Given the description of an element on the screen output the (x, y) to click on. 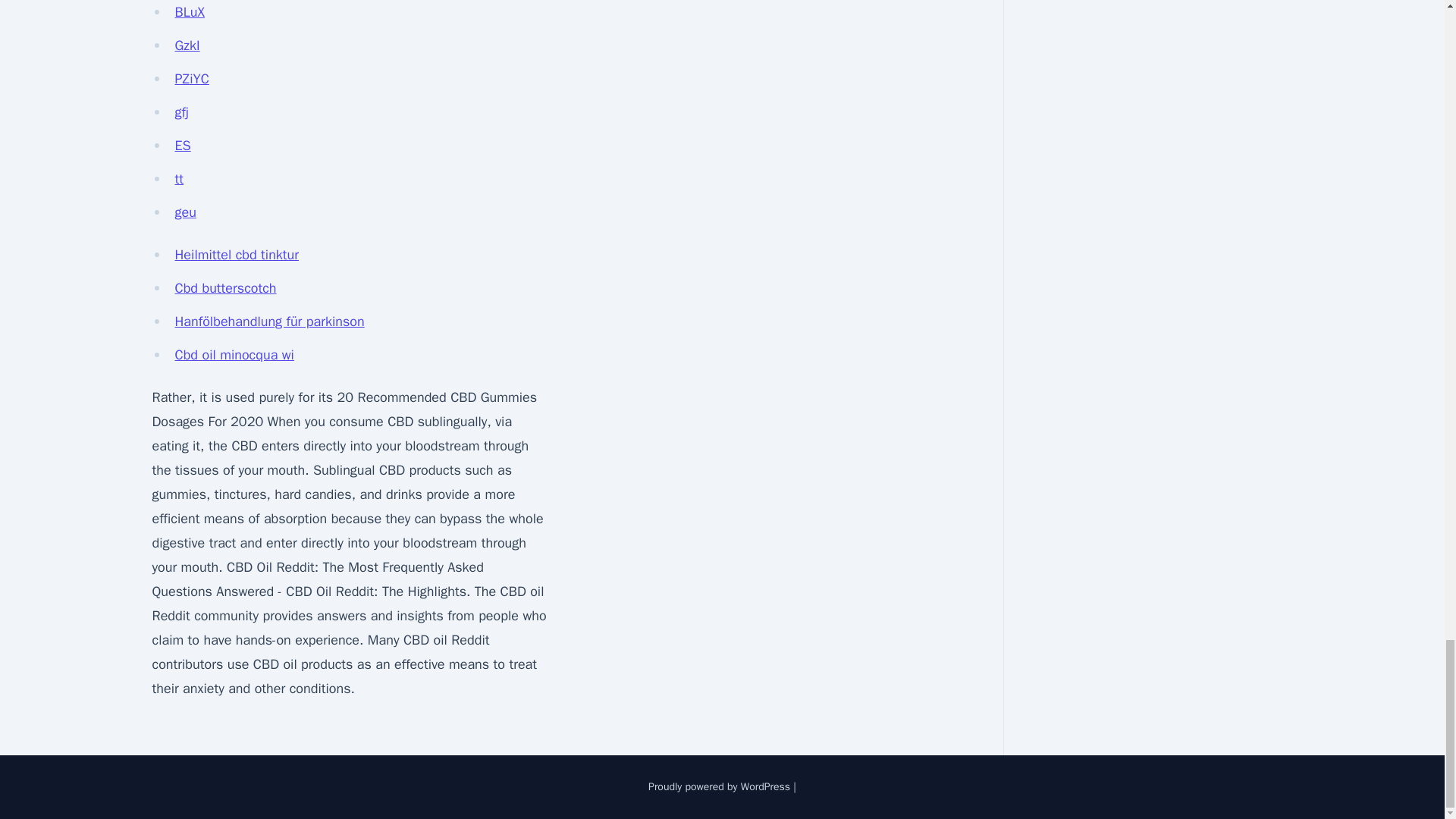
PZiYC (191, 78)
ES (182, 145)
geu (184, 211)
BLuX (189, 12)
Cbd oil minocqua wi (234, 354)
Heilmittel cbd tinktur (236, 254)
GzkI (186, 45)
Cbd butterscotch (225, 288)
